Given the description of an element on the screen output the (x, y) to click on. 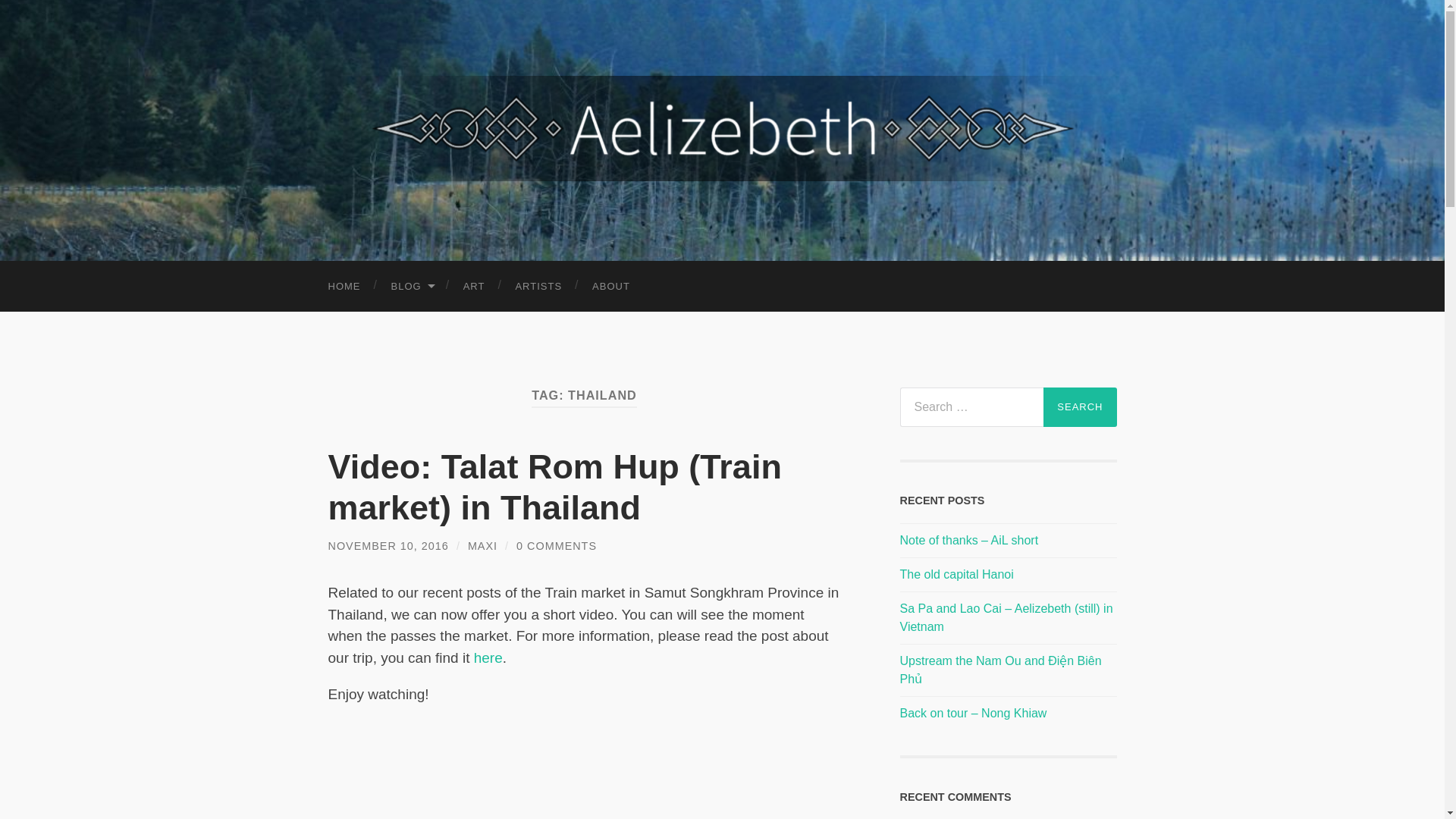
0 COMMENTS (556, 545)
ARTISTS (537, 286)
here (488, 657)
Posts by Maxi (482, 545)
HOME (344, 286)
Aelizebeth (721, 128)
Search (1079, 406)
The old capital Hanoi (956, 574)
ART (474, 286)
Search (1079, 406)
